Given the description of an element on the screen output the (x, y) to click on. 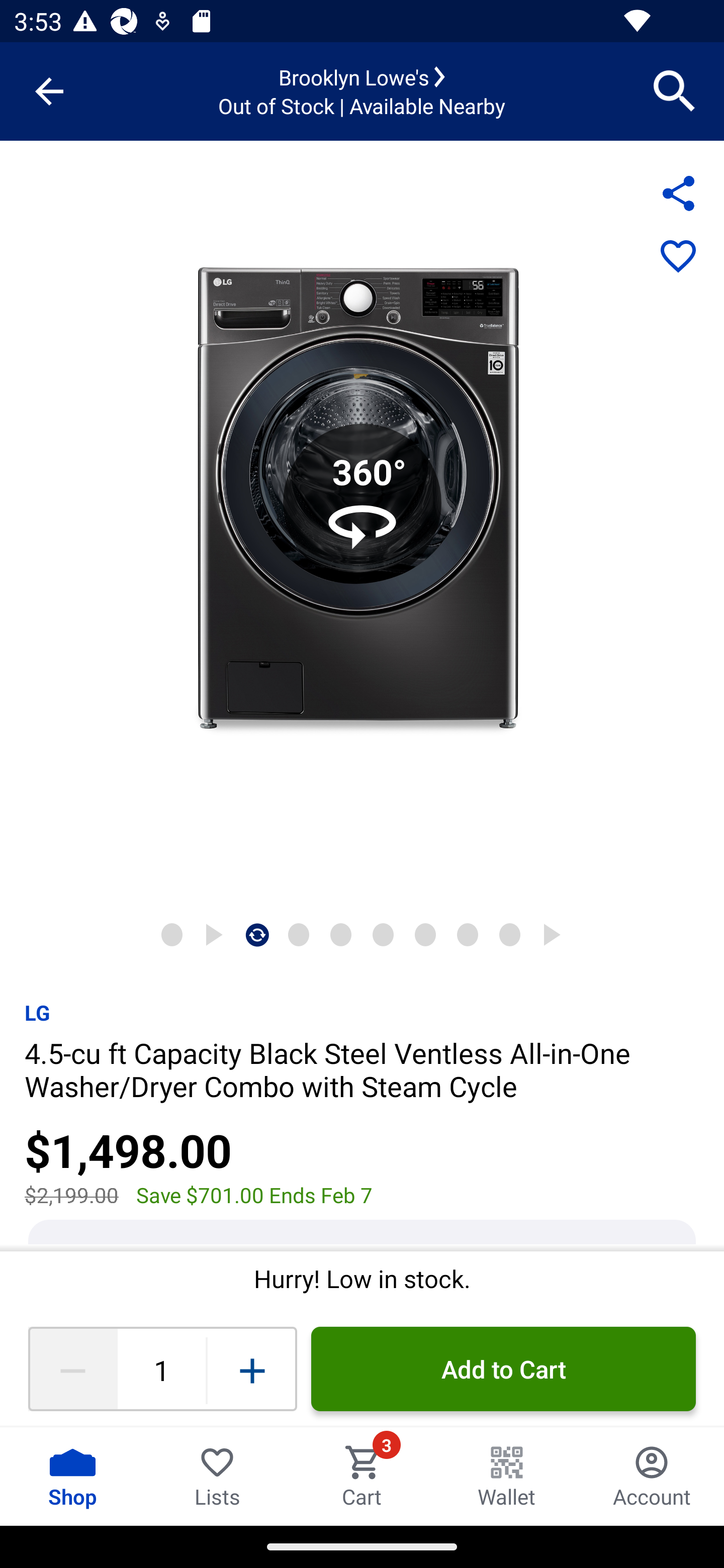
Navigate up (49, 91)
Search for products (674, 90)
Brooklyn Lowe's  Out of Stock | Available Nearby (361, 91)
Share (678, 193)
Save to List (678, 256)
Decrease quantity (72, 1368)
1 (161, 1368)
Increase quantity (251, 1368)
Add to Cart (503, 1368)
Lists (216, 1475)
Cart Cart 3 (361, 1475)
Wallet (506, 1475)
Account (651, 1475)
